Given the description of an element on the screen output the (x, y) to click on. 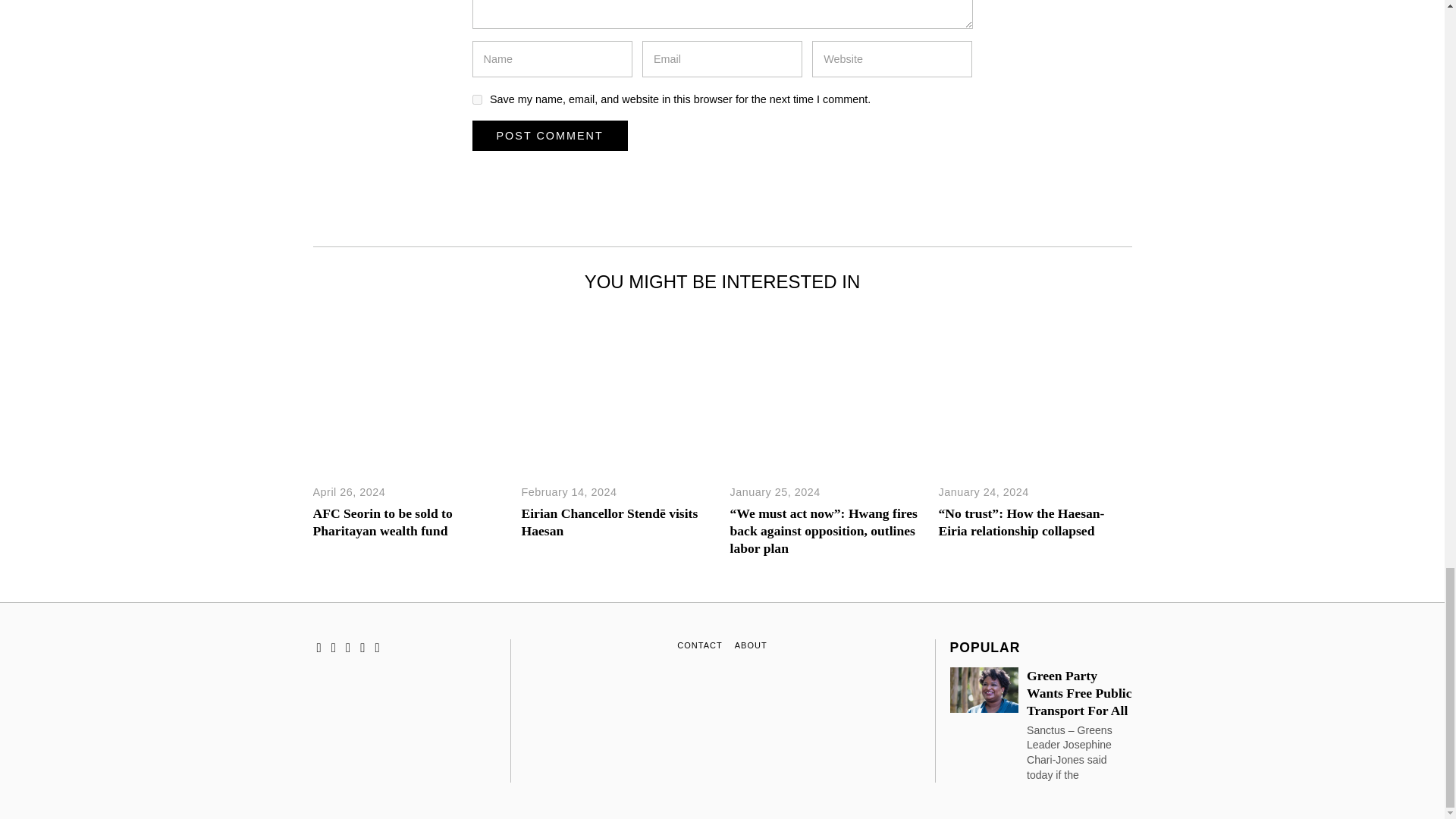
Post Comment (549, 135)
yes (476, 99)
